Given the description of an element on the screen output the (x, y) to click on. 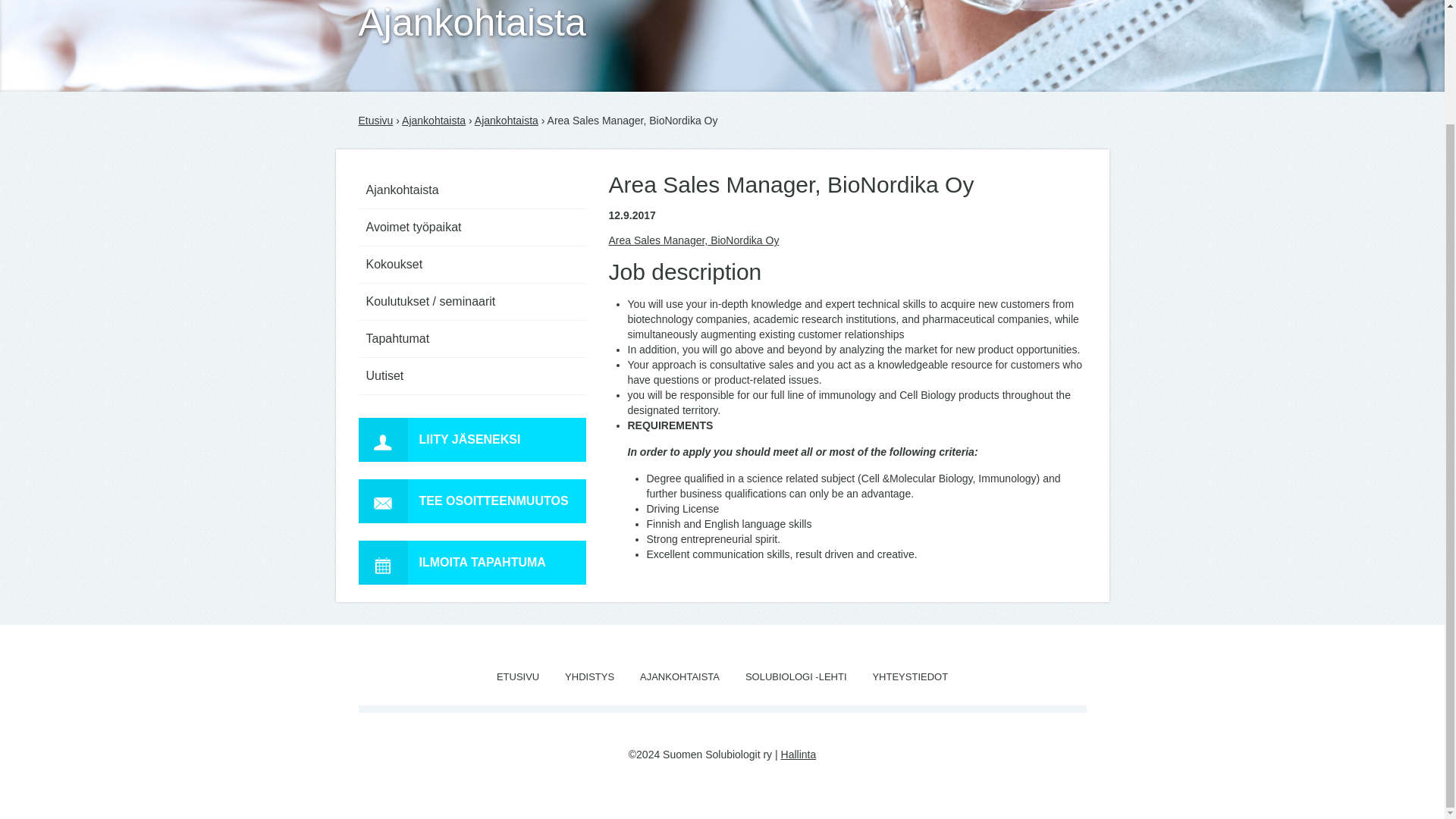
Etusivu (375, 120)
Ajankohtaista (433, 120)
Tapahtumat (471, 339)
YHTEYSTIEDOT (909, 676)
AJANKOHTAISTA (679, 676)
ETUSIVU (517, 676)
Area Sales Manager, BioNordika Oy (693, 240)
Uutiset (471, 375)
ILMOITA TAPAHTUMA (471, 562)
Ajankohtaista (471, 190)
